Given the description of an element on the screen output the (x, y) to click on. 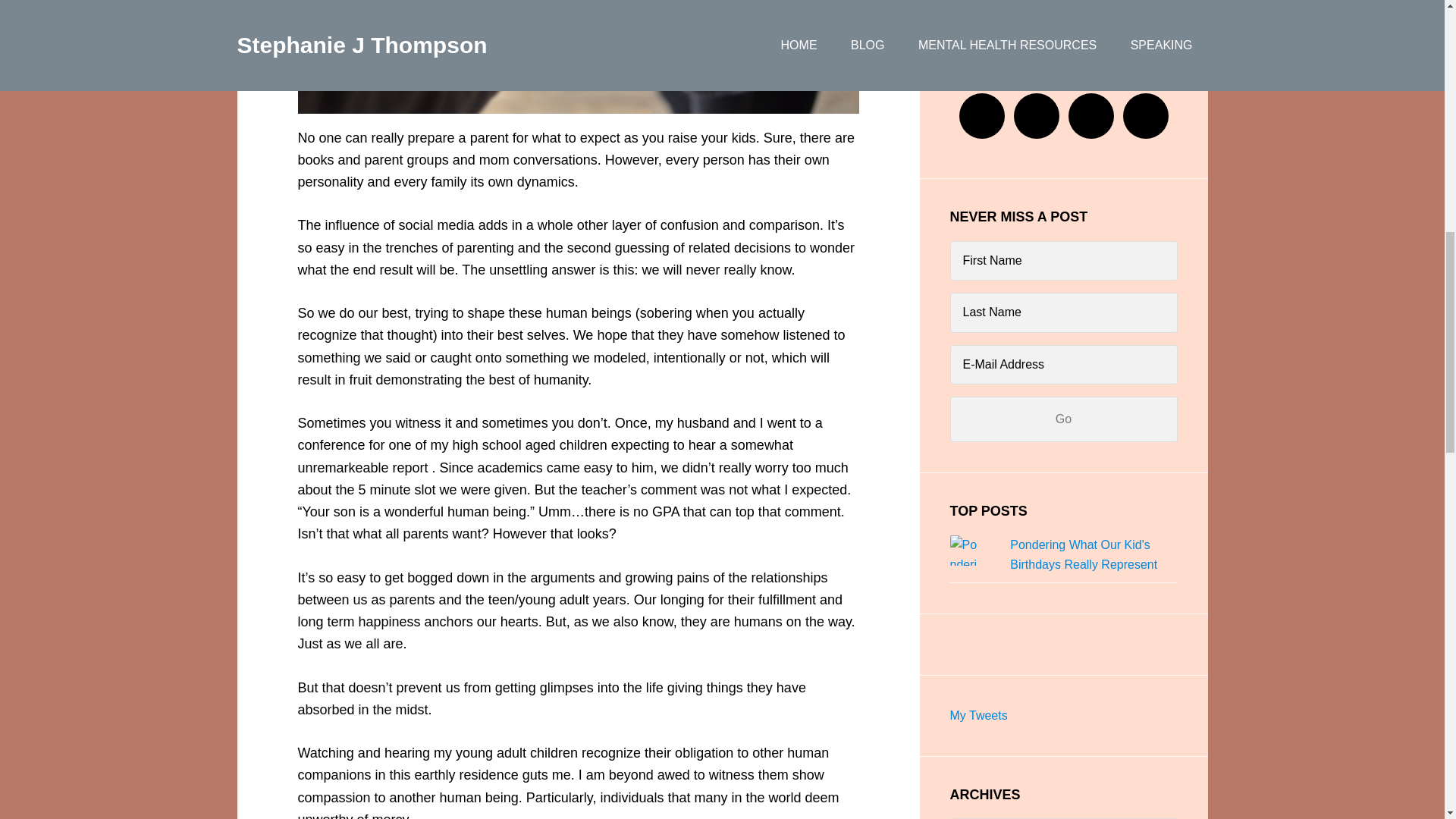
Go (1062, 419)
My Tweets (978, 715)
Pondering What Our Kid's Birthdays Really Represent (1083, 554)
Pondering What Our Kid's Birthdays Really Represent (1083, 554)
Go (1062, 419)
